Given the description of an element on the screen output the (x, y) to click on. 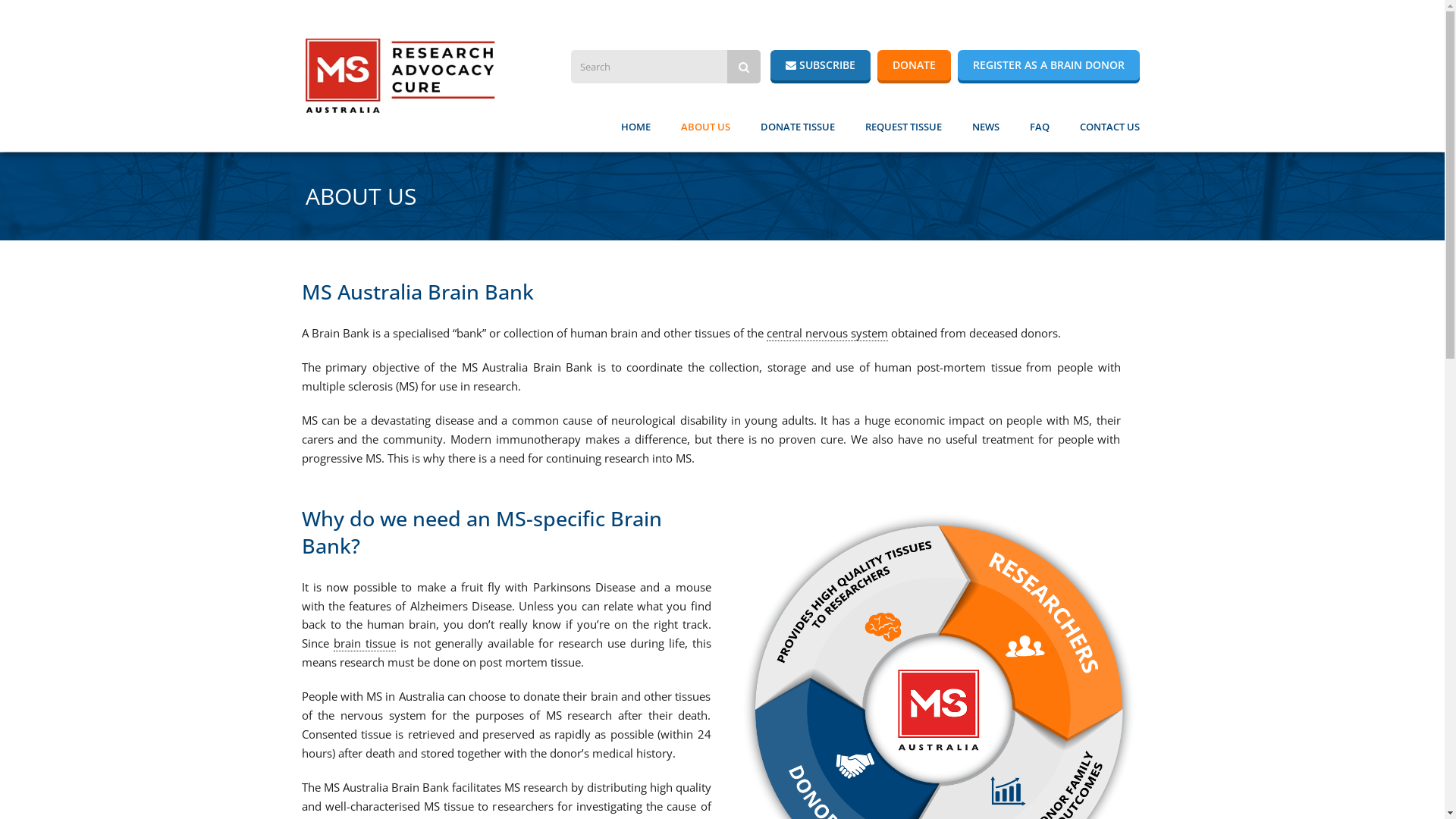
REQUEST TISSUE Element type: text (902, 124)
CONTACT US Element type: text (1109, 124)
Our aim is to provide freedom from MS Element type: hover (399, 75)
REGISTER AS A BRAIN DONOR Element type: text (1048, 65)
SUBSCRIBE Element type: text (820, 65)
FAQ Element type: text (1039, 124)
DONATE TISSUE Element type: text (796, 124)
ABOUT US Element type: text (705, 124)
HOME Element type: text (635, 124)
DONATE Element type: text (913, 65)
NEWS Element type: text (985, 124)
